Given the description of an element on the screen output the (x, y) to click on. 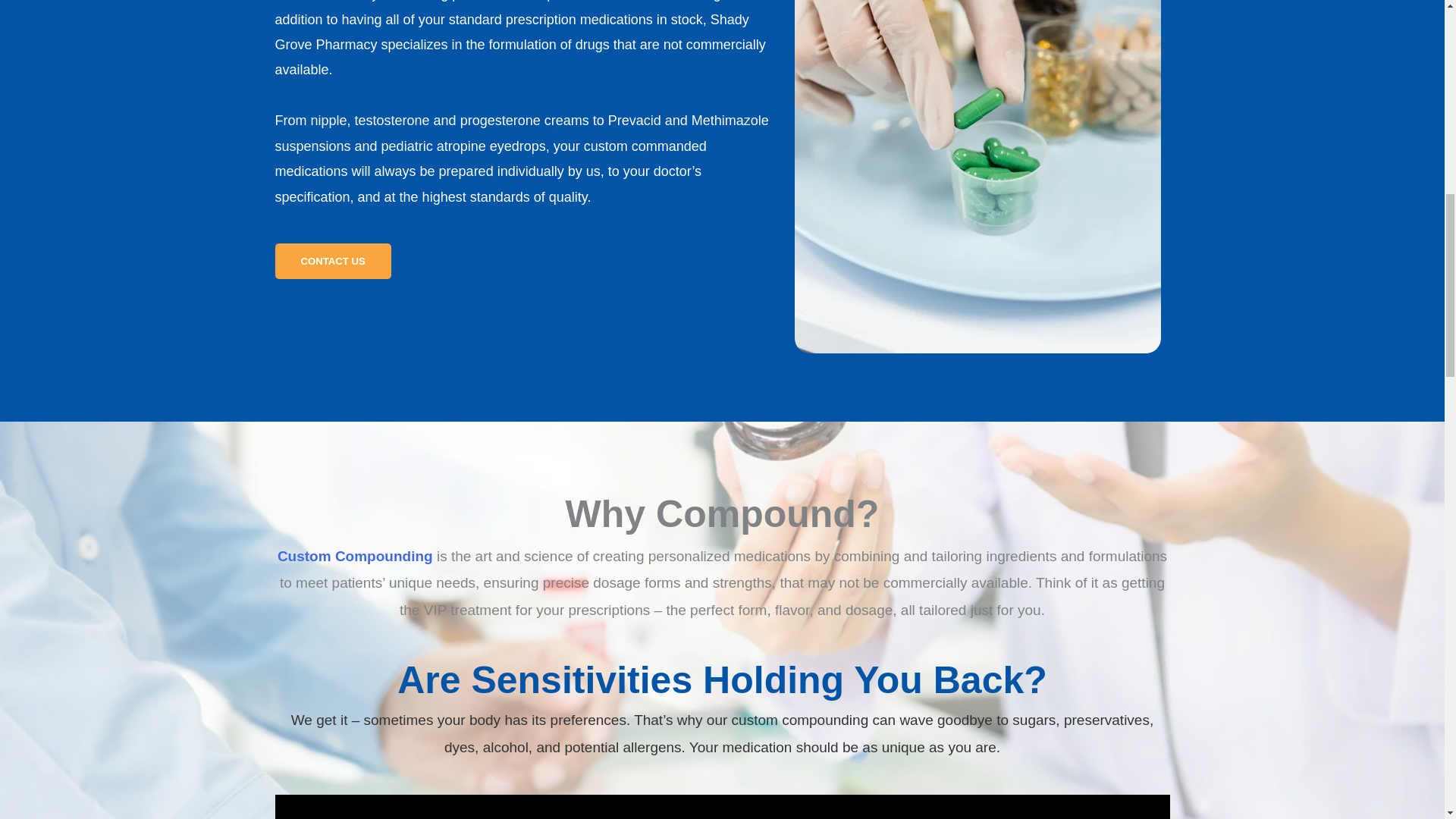
CONTACT US (332, 261)
Custom Compounding (355, 555)
